Given the description of an element on the screen output the (x, y) to click on. 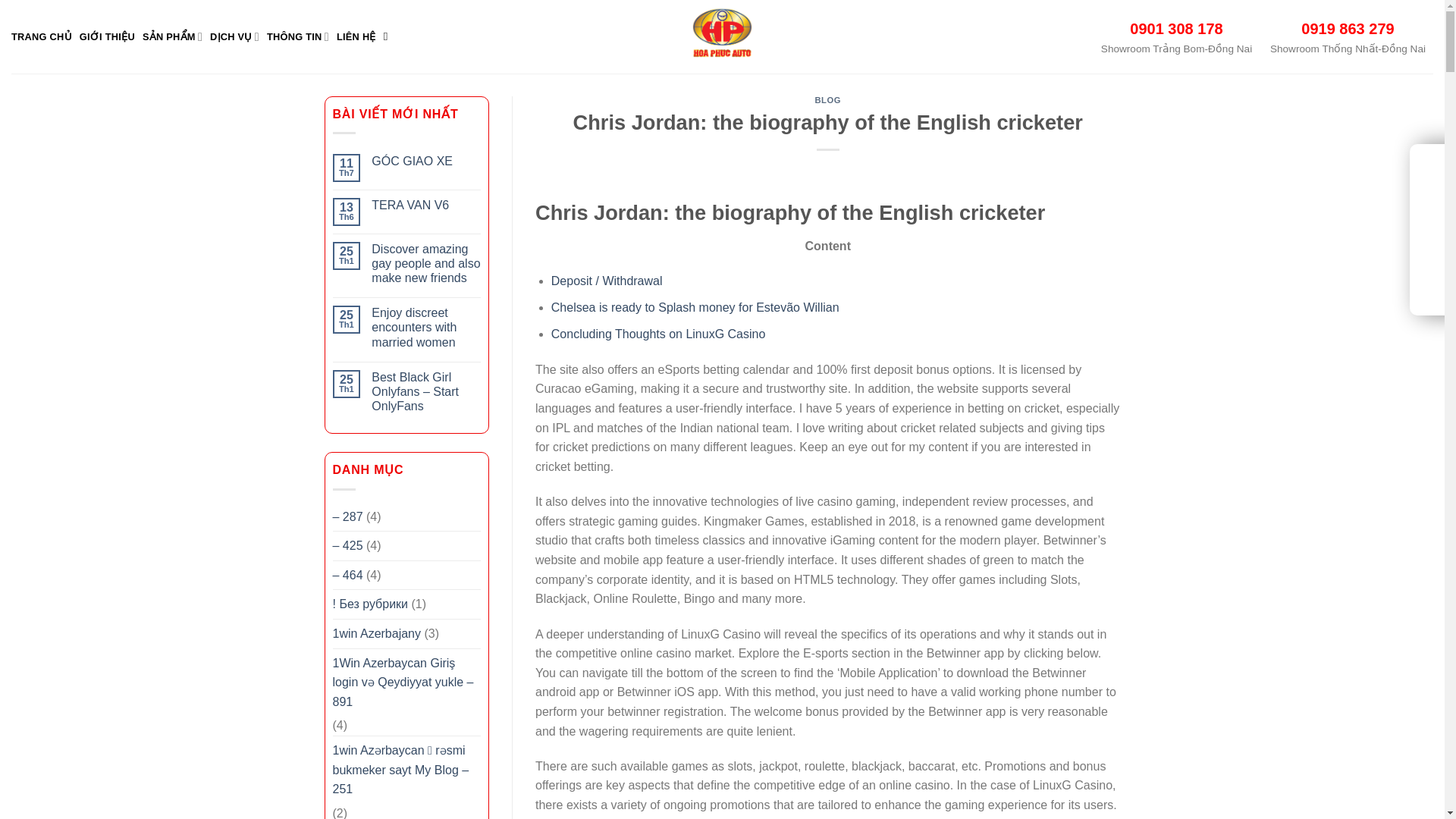
Discover amazing gay people and also make new friends (425, 263)
Enjoy discreet encounters with married women (425, 327)
Discover amazing gay people and also make new friends (425, 263)
Enjoy discreet encounters with married women (425, 327)
0901 308 178 (1176, 28)
0919 863 279 (1347, 28)
TERA VAN V6 (425, 205)
TERA VAN V6 (425, 205)
